Given the description of an element on the screen output the (x, y) to click on. 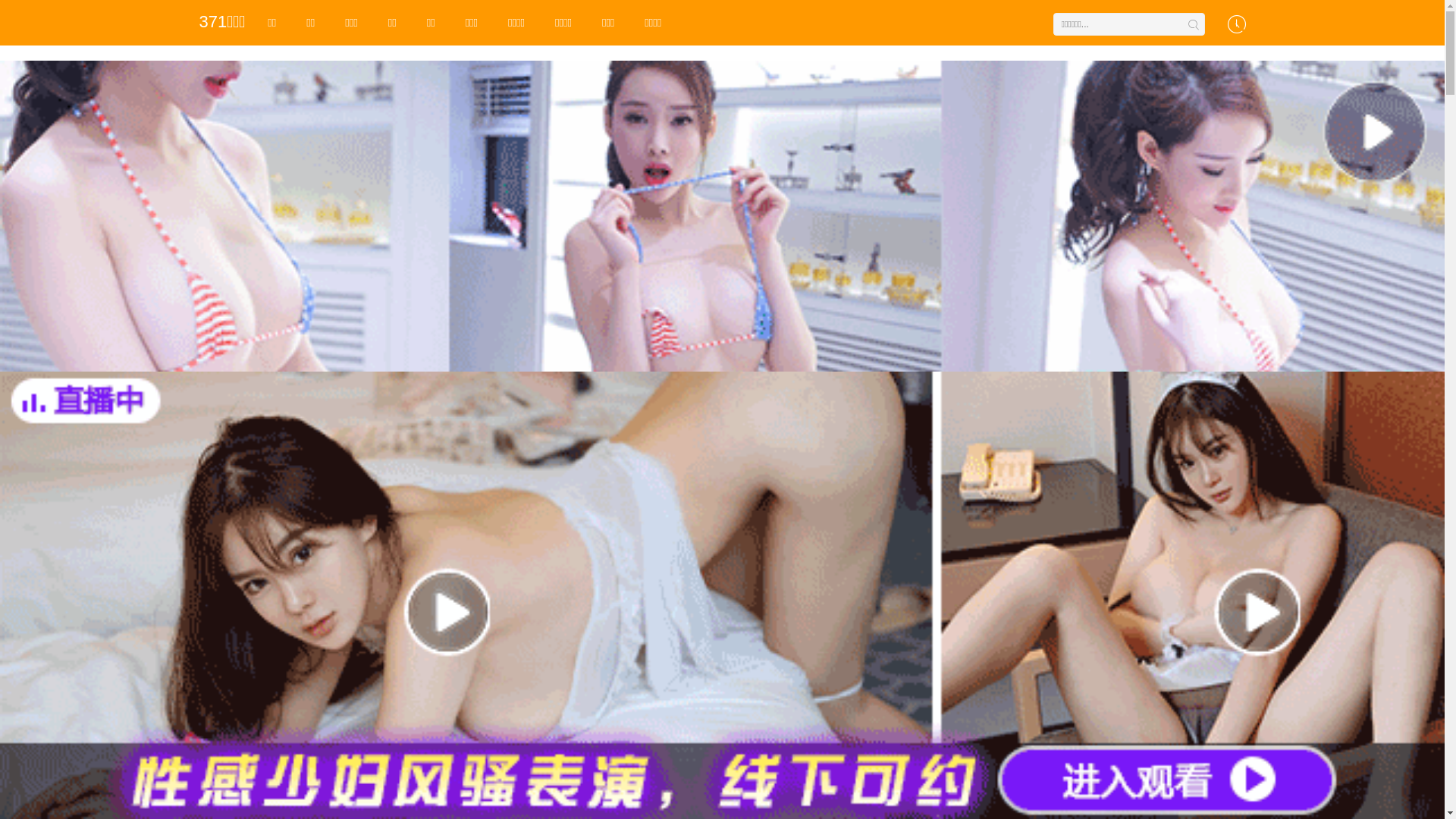
HD Element type: text (399, 435)
HD Element type: text (657, 206)
HD Element type: text (915, 206)
HD Element type: text (270, 435)
HD Element type: text (528, 435)
HD Element type: text (786, 435)
HD Element type: text (399, 206)
HD Element type: text (786, 206)
HD Element type: text (657, 435)
HD Element type: text (270, 206)
HD Element type: text (528, 206)
